Given the description of an element on the screen output the (x, y) to click on. 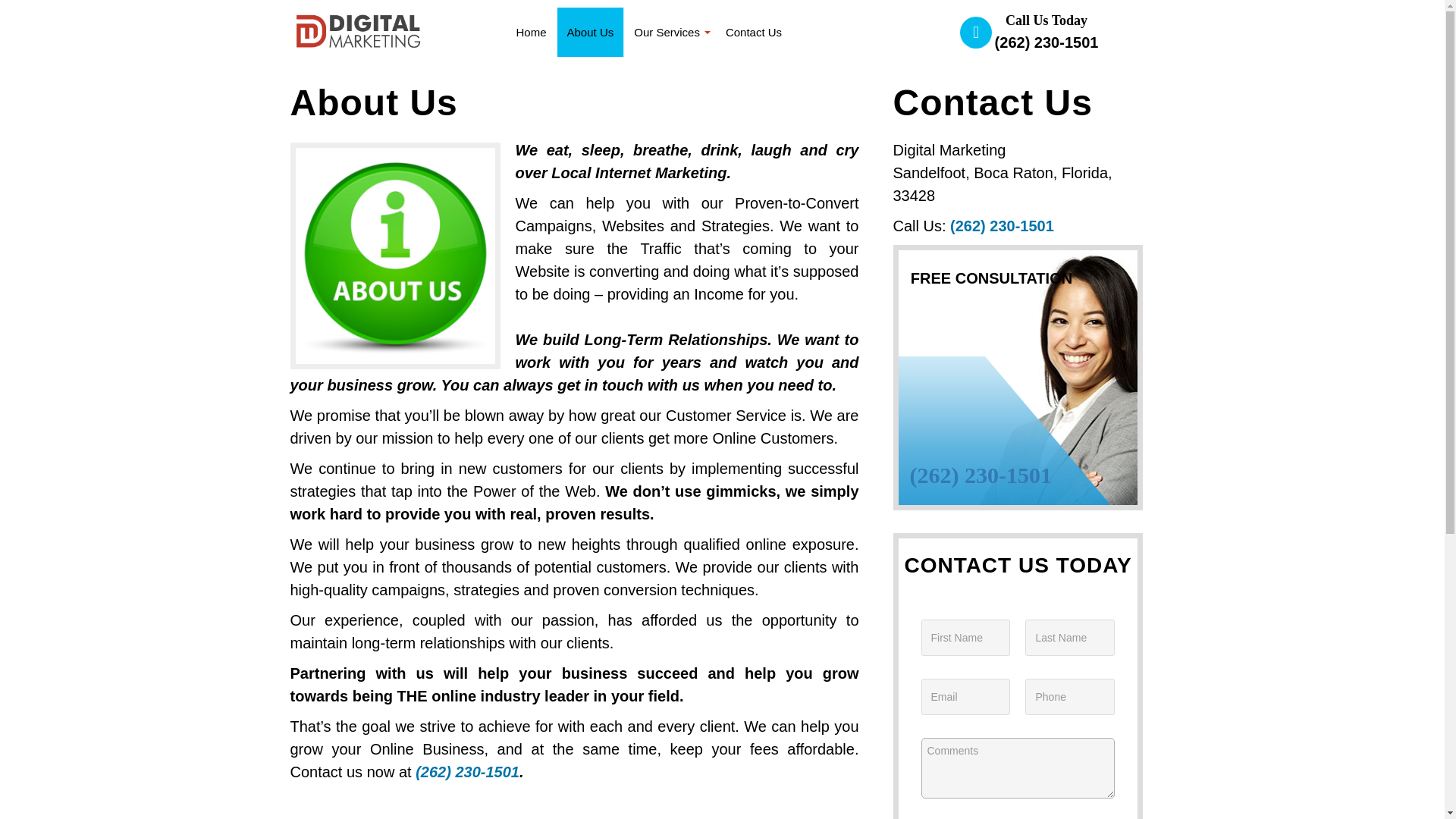
Phone (1070, 696)
Home (531, 31)
First Name (965, 637)
Contact Us (754, 31)
Email (965, 696)
About Us (590, 31)
Our Services (670, 31)
Last Name (1070, 637)
